Given the description of an element on the screen output the (x, y) to click on. 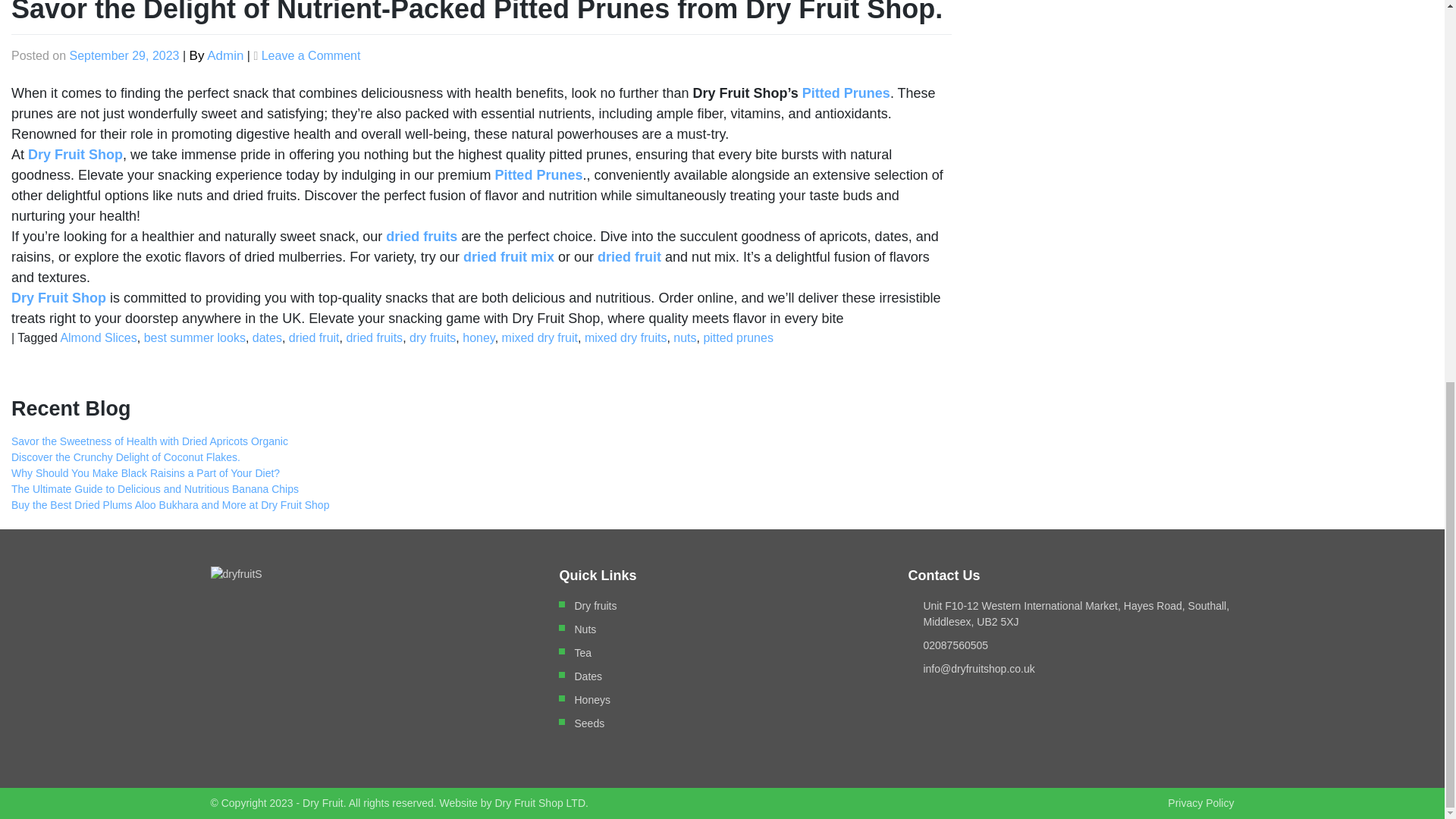
Pitted Prunes (845, 92)
dried fruit (628, 256)
dried fruits (421, 236)
dried fruit mix (508, 256)
Pitted Prunes (538, 174)
Admin (224, 55)
Dry Fruit Shop (73, 154)
September 29, 2023 (124, 55)
